Given the description of an element on the screen output the (x, y) to click on. 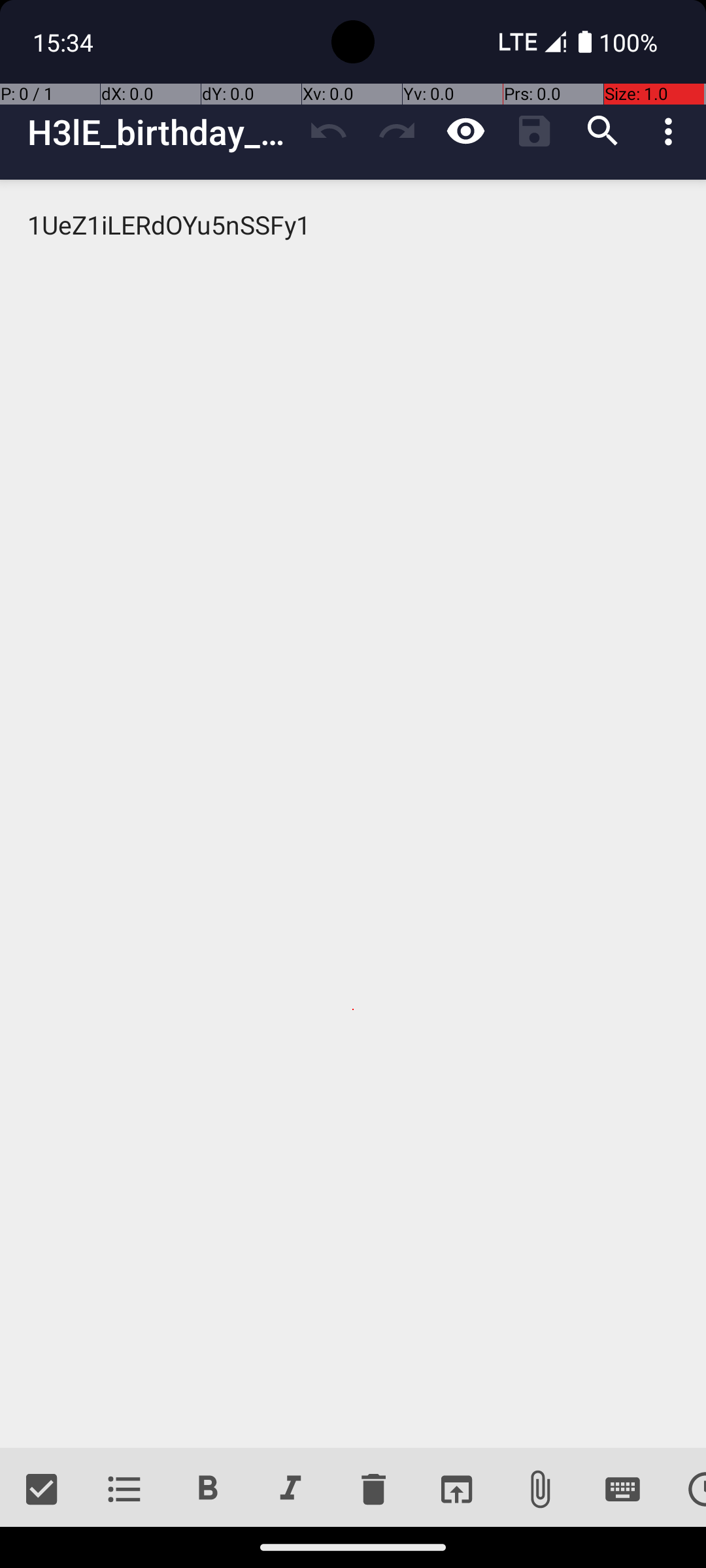
H3lE_birthday_gift_ideas_mom Element type: android.widget.TextView (160, 131)
1UeZ1iLERdOYu5nSSFy1
 Element type: android.widget.EditText (353, 813)
